Given the description of an element on the screen output the (x, y) to click on. 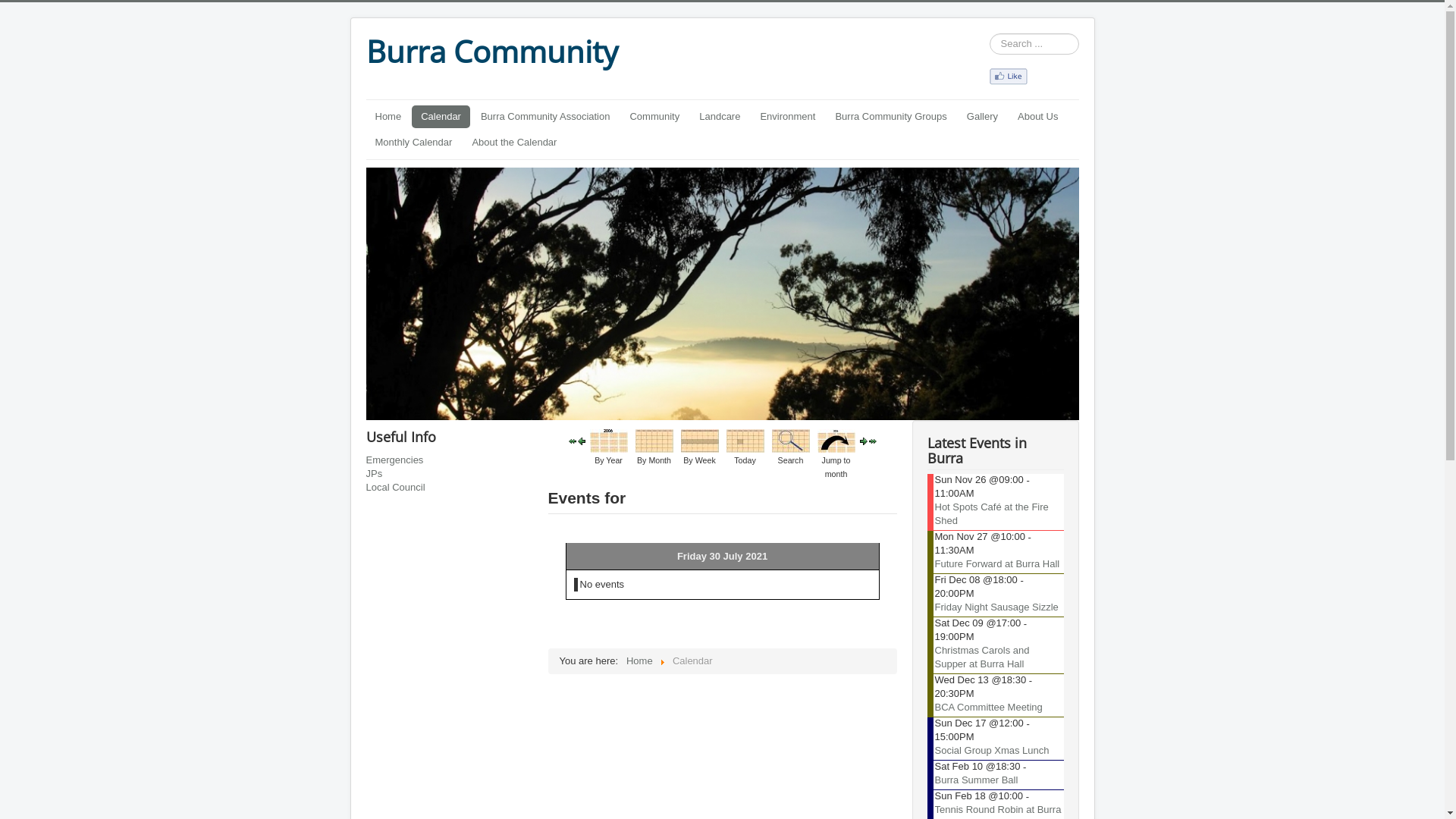
Gallery Element type: text (982, 116)
Home Element type: text (387, 116)
About Us Element type: text (1037, 116)
Local Council Element type: text (448, 487)
Today Element type: hover (745, 439)
Next month Element type: hover (872, 439)
By Month Element type: hover (654, 439)
JPs Element type: text (448, 473)
Calendar Element type: text (440, 116)
Environment Element type: text (787, 116)
Landcare Element type: text (719, 116)
Burra Community Groups Element type: text (890, 116)
Jump to month Element type: hover (836, 439)
Burra Community Association Element type: text (545, 116)
Previous month Element type: hover (572, 439)
By Week Element type: hover (699, 439)
Next day Element type: hover (863, 439)
Friday Night Sausage Sizzle Element type: text (995, 606)
Christmas Carols and Supper at Burra Hall Element type: text (981, 656)
Community Element type: text (654, 116)
Monthly Calendar Element type: text (413, 142)
Previous day Element type: hover (581, 439)
Burra Community Association Element type: hover (1007, 75)
Social Group Xmas Lunch Element type: text (991, 750)
Burra Community Element type: text (491, 51)
Home Element type: text (639, 660)
BCA Committee Meeting Element type: text (987, 706)
Burra Summer Ball Element type: text (975, 779)
About the Calendar Element type: text (513, 142)
Search Element type: hover (790, 439)
Future Forward at Burra Hall Element type: text (996, 563)
Emergencies Element type: text (448, 460)
By Year Element type: hover (608, 439)
